Given the description of an element on the screen output the (x, y) to click on. 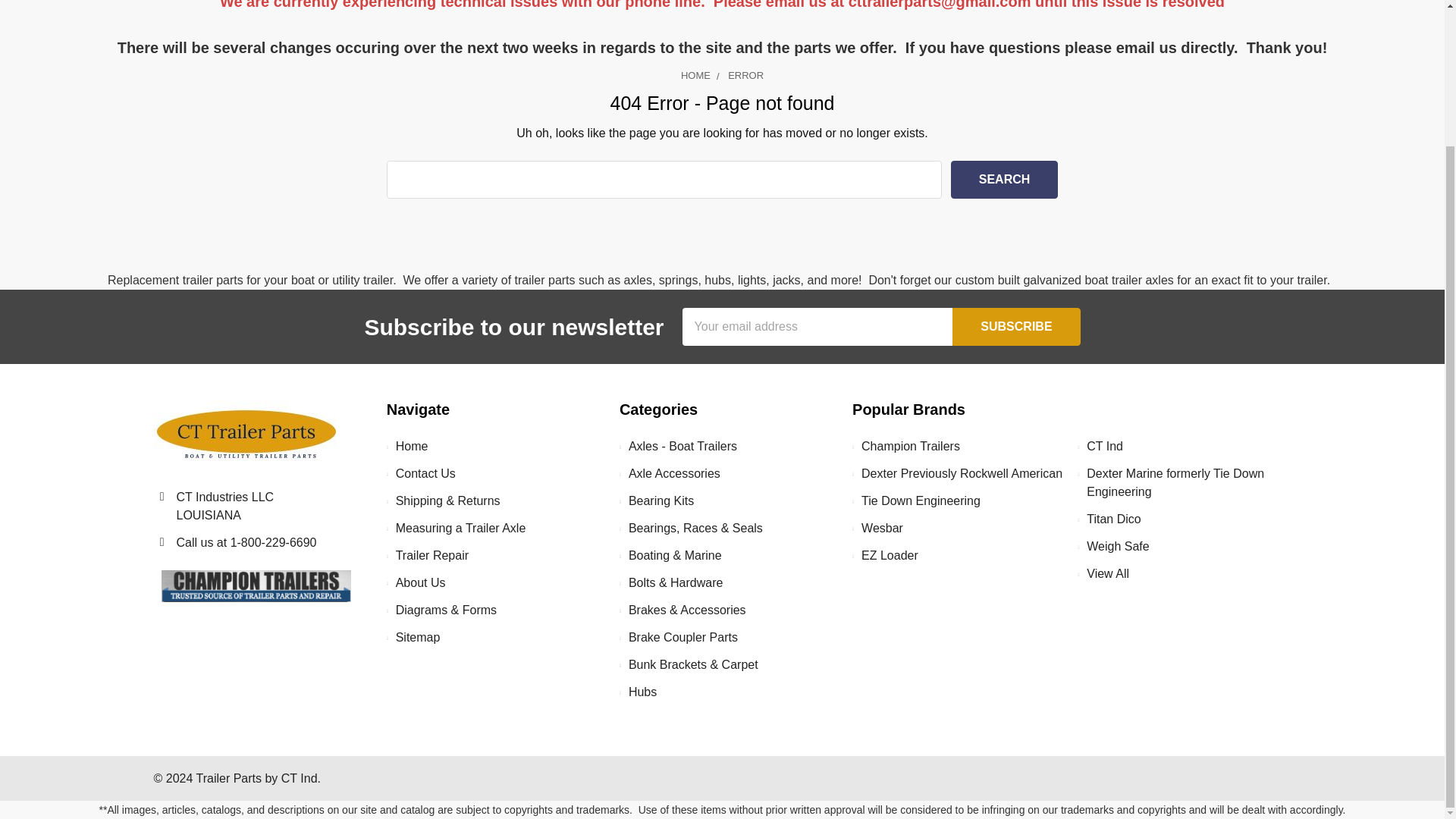
Search (1004, 179)
CT Trailer Parts Supply (247, 435)
Subscribe (1016, 326)
